Given the description of an element on the screen output the (x, y) to click on. 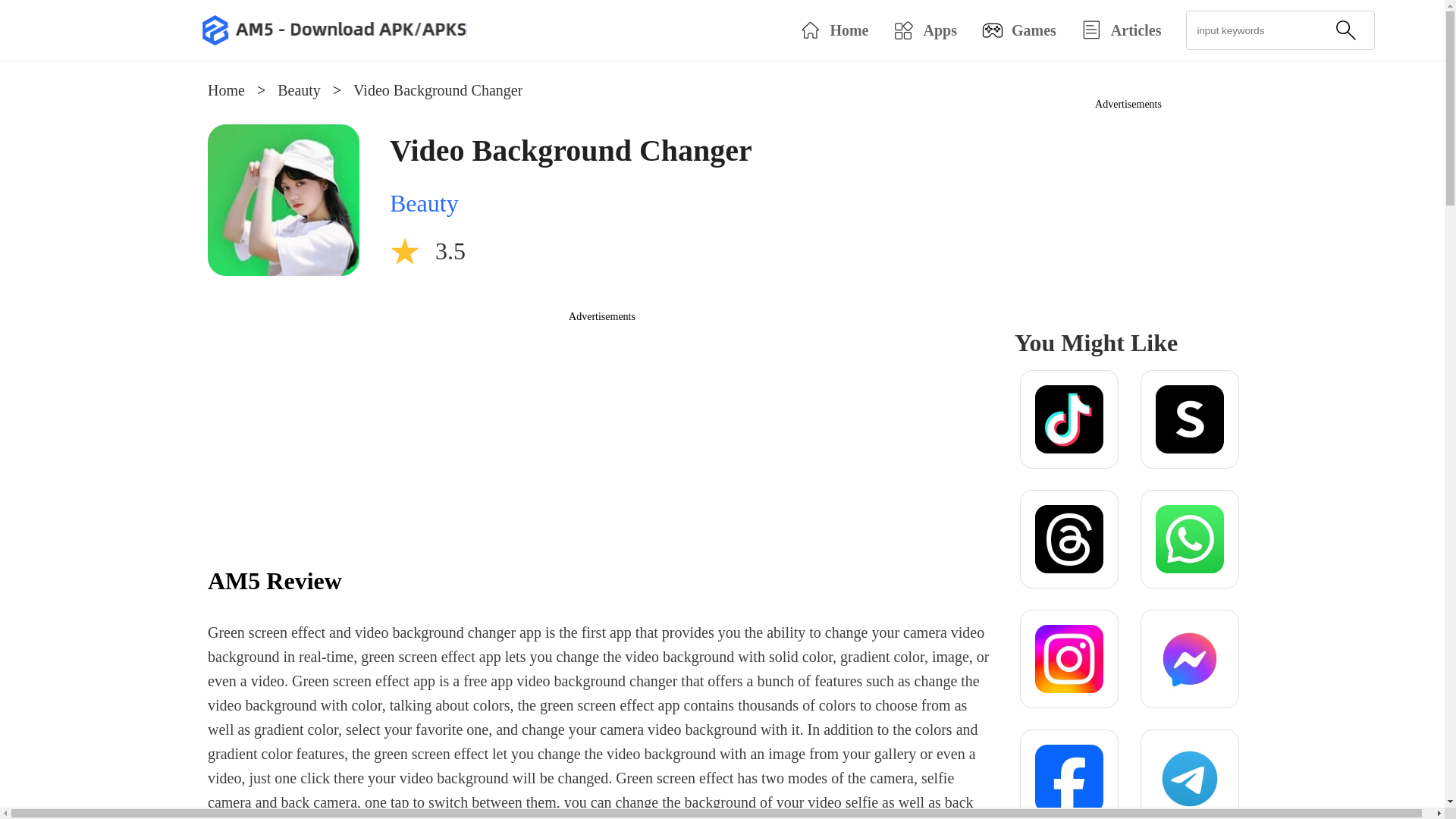
Beauty (424, 203)
Home (226, 89)
Apps (924, 30)
Games (1019, 30)
Articles (1120, 30)
Beauty (299, 89)
Home (833, 30)
search (1345, 30)
Video Background Changer (437, 89)
